Given the description of an element on the screen output the (x, y) to click on. 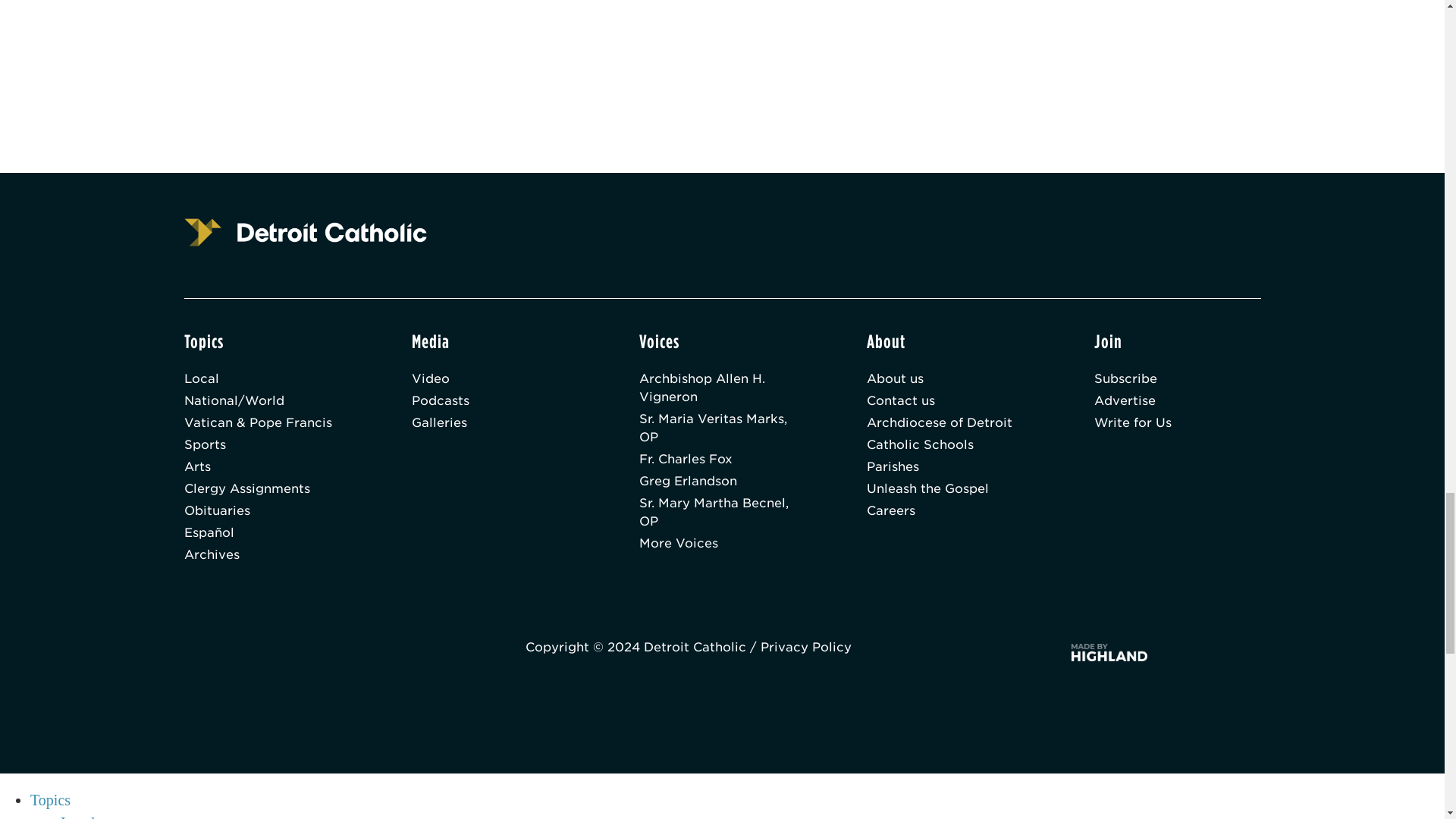
Podcasts (494, 401)
Instagram (403, 651)
Fr. Charles Fox (722, 459)
About us (949, 379)
Galleries (494, 423)
Facebook (312, 651)
Sr. Mary Martha Becnel, OP (722, 512)
Video (494, 379)
More Voices (722, 543)
Twitter (357, 651)
Obituaries (266, 511)
Sports (266, 444)
Contact us (949, 401)
Archives (266, 555)
Clergy Assignments (266, 488)
